Given the description of an element on the screen output the (x, y) to click on. 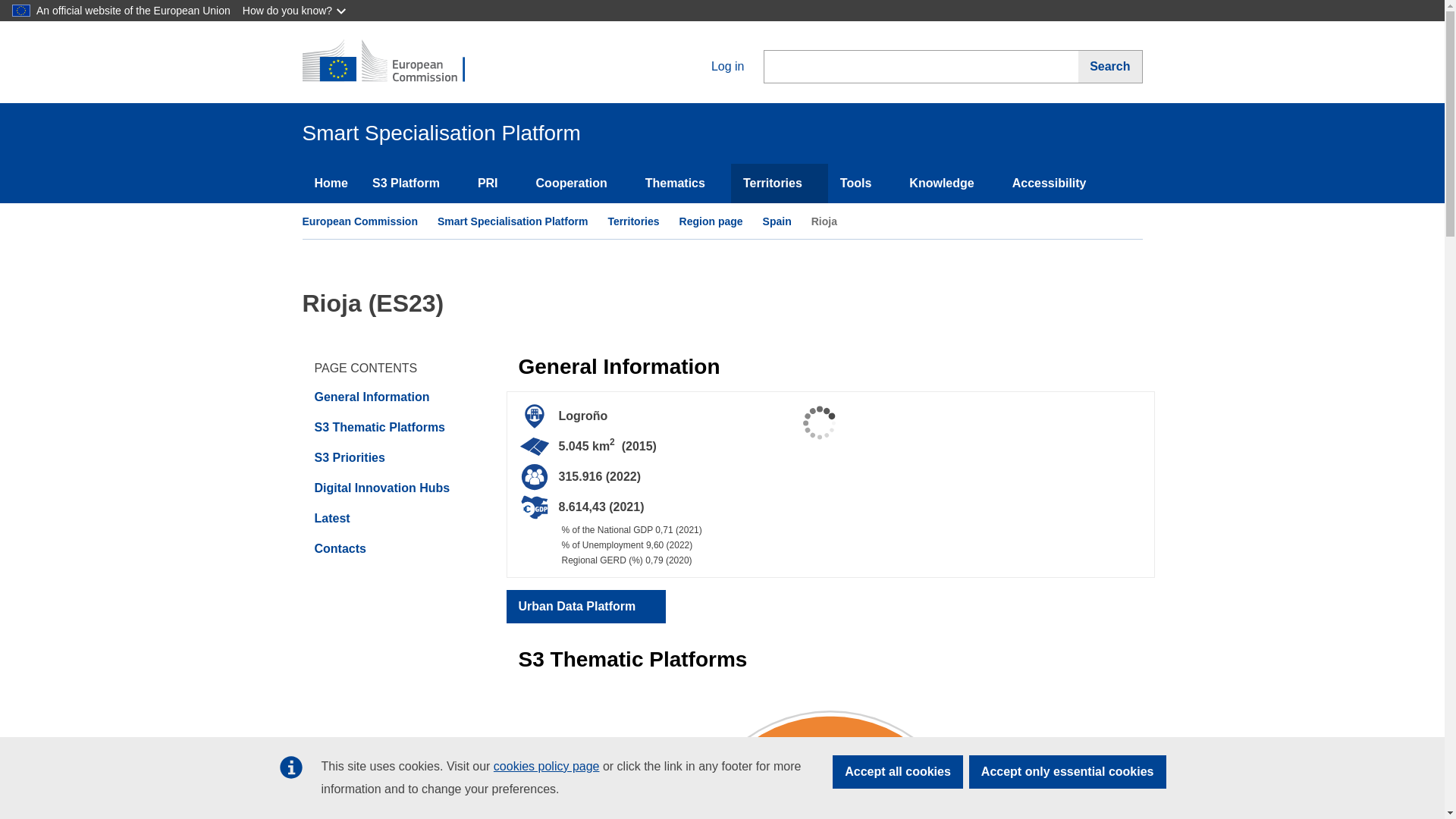
Accept all cookies (897, 771)
Accept only essential cookies (1067, 771)
Cooperation (578, 183)
Tools (862, 183)
European Commission (392, 62)
Thematics (681, 183)
cookies policy page (546, 766)
Search (1109, 66)
Territories (779, 183)
S3 Platform (412, 183)
How do you know? (295, 10)
Log in (715, 66)
Home (330, 183)
PRI (494, 183)
